Given the description of an element on the screen output the (x, y) to click on. 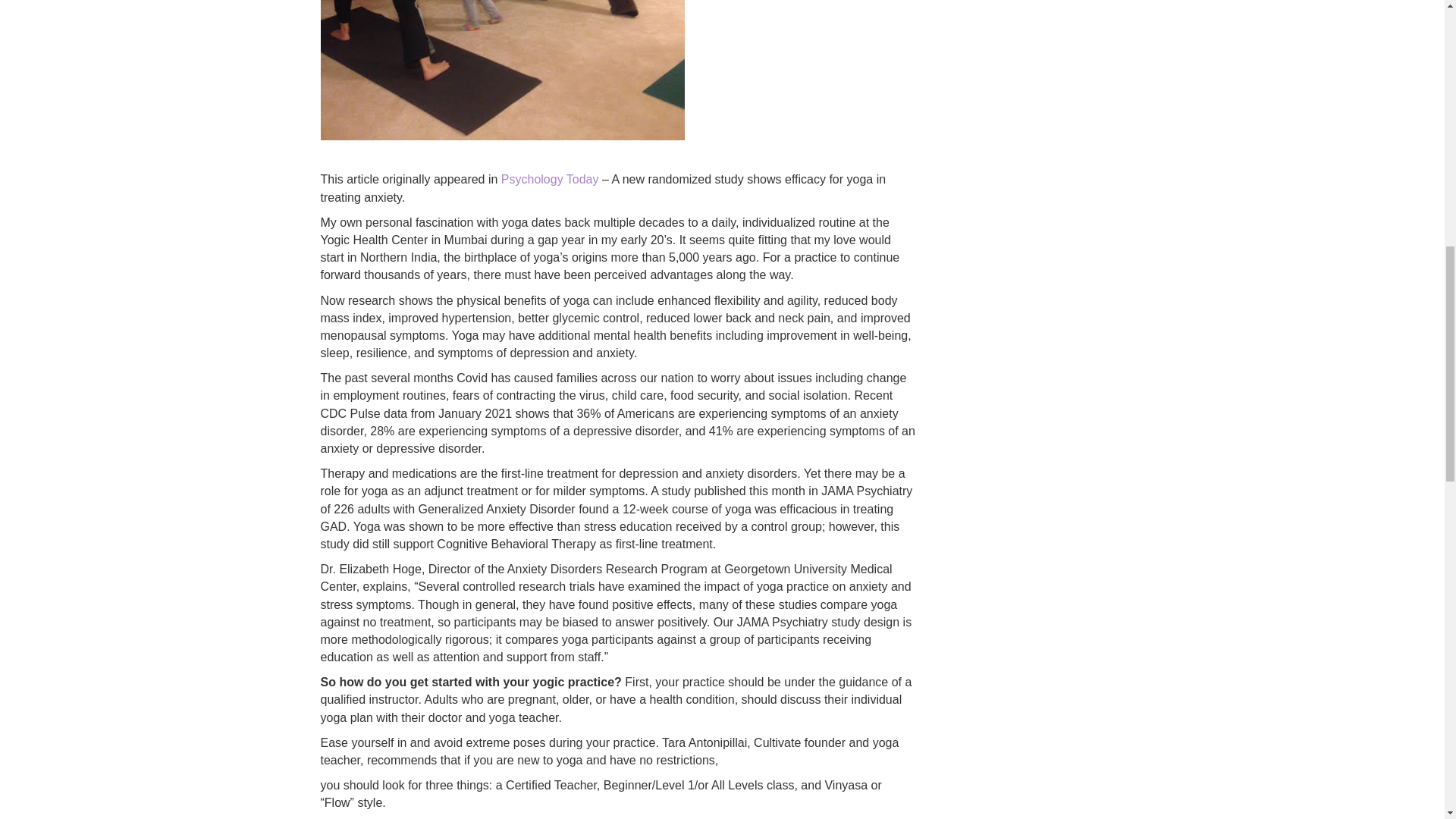
Psychology Today (551, 178)
